Given the description of an element on the screen output the (x, y) to click on. 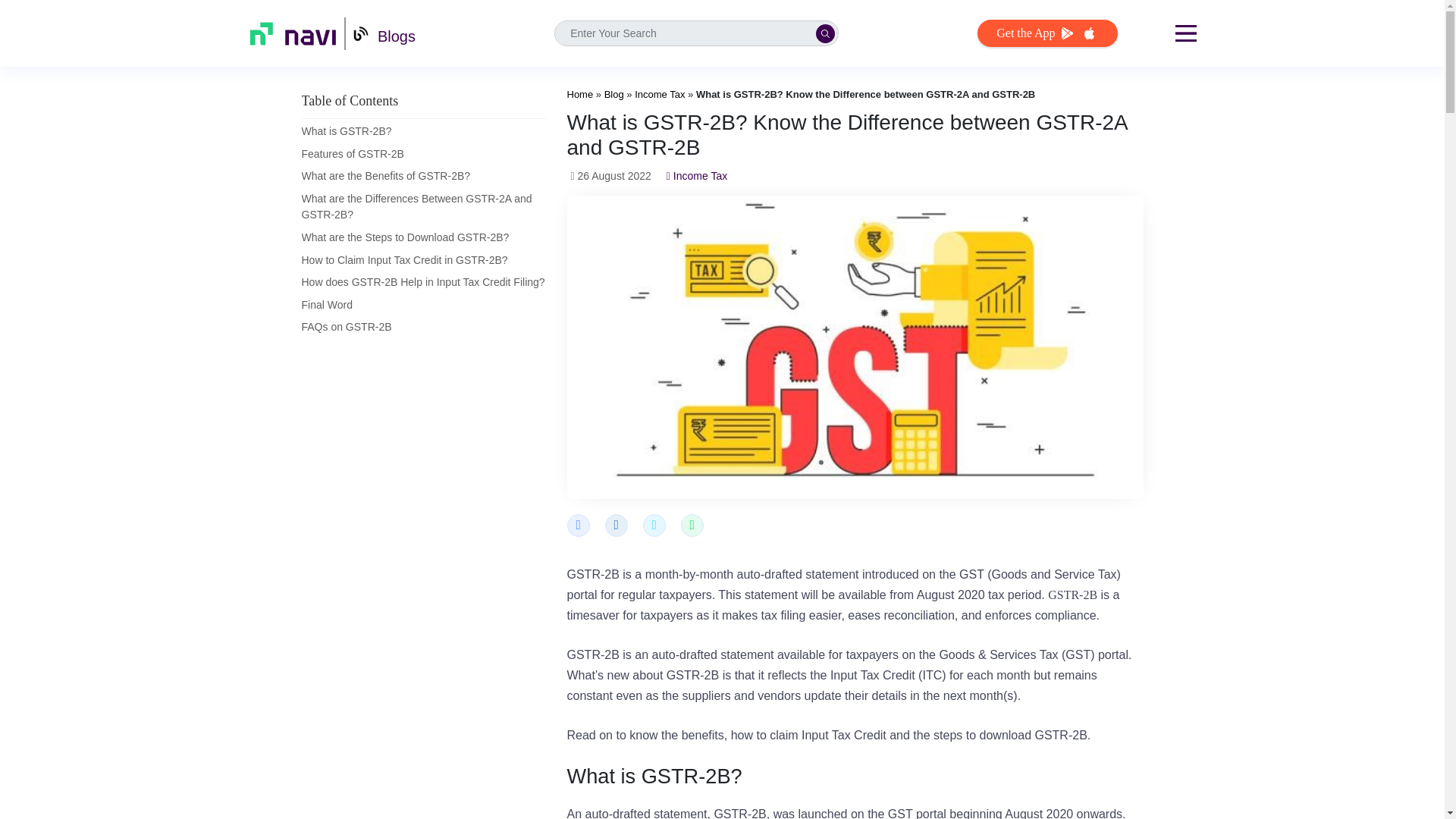
Final Word (326, 304)
What are the Steps to Download GSTR-2B? (405, 236)
Income Tax (659, 93)
Get the App (1046, 33)
Blog (614, 93)
Features of GSTR-2B (352, 153)
Home (580, 93)
How does GSTR-2B Help in Input Tax Credit Filing? (422, 282)
How to Claim Input Tax Credit in GSTR-2B? (404, 259)
What is GSTR-2B? (346, 131)
